Given the description of an element on the screen output the (x, y) to click on. 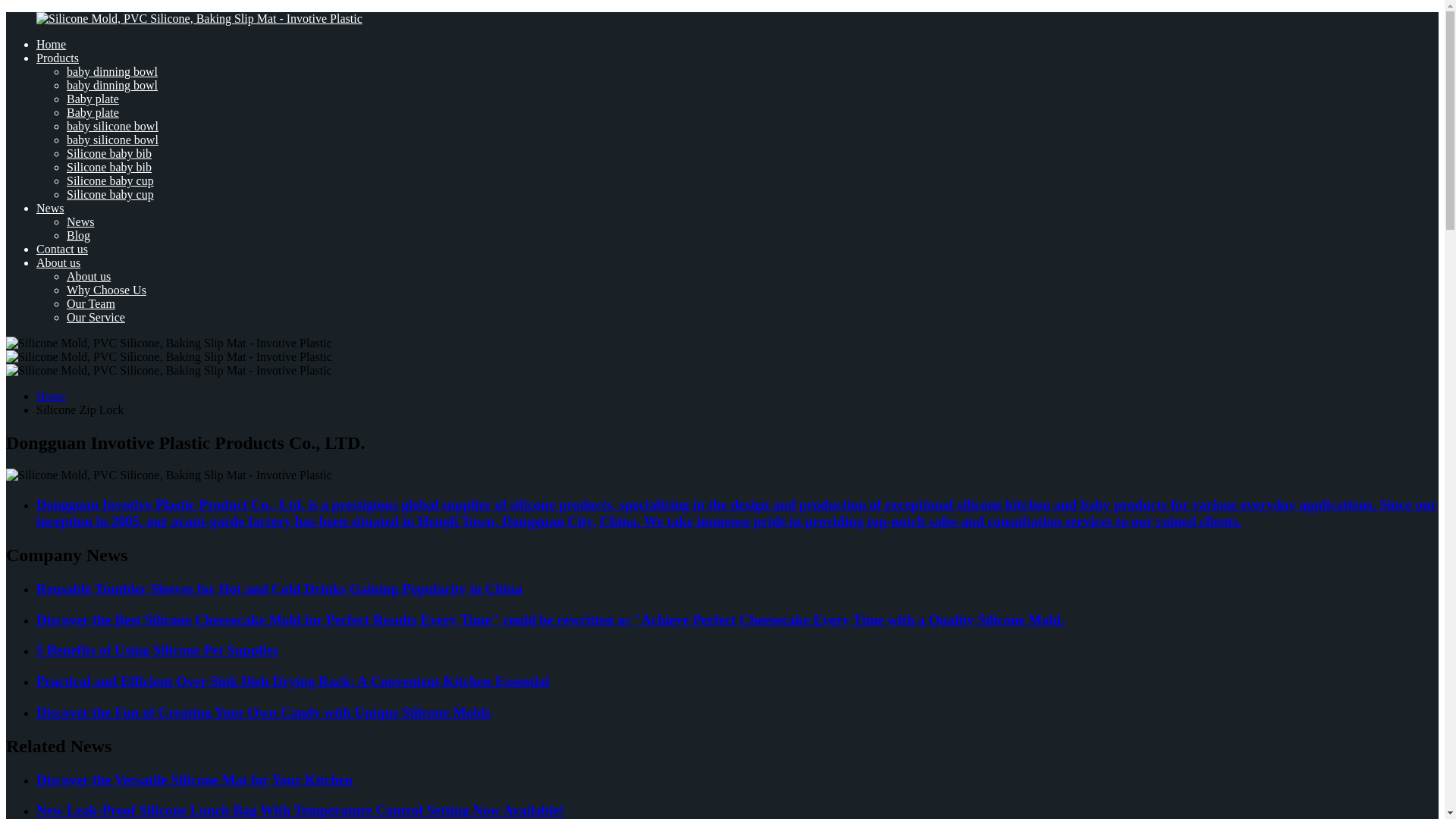
News (50, 207)
About us (58, 262)
Our Team (90, 303)
baby dinning bowl (111, 71)
baby silicone bowl (112, 125)
Home (50, 43)
Contact us (61, 248)
Baby plate (92, 98)
Silicone baby bib (108, 166)
About us (88, 276)
